Given the description of an element on the screen output the (x, y) to click on. 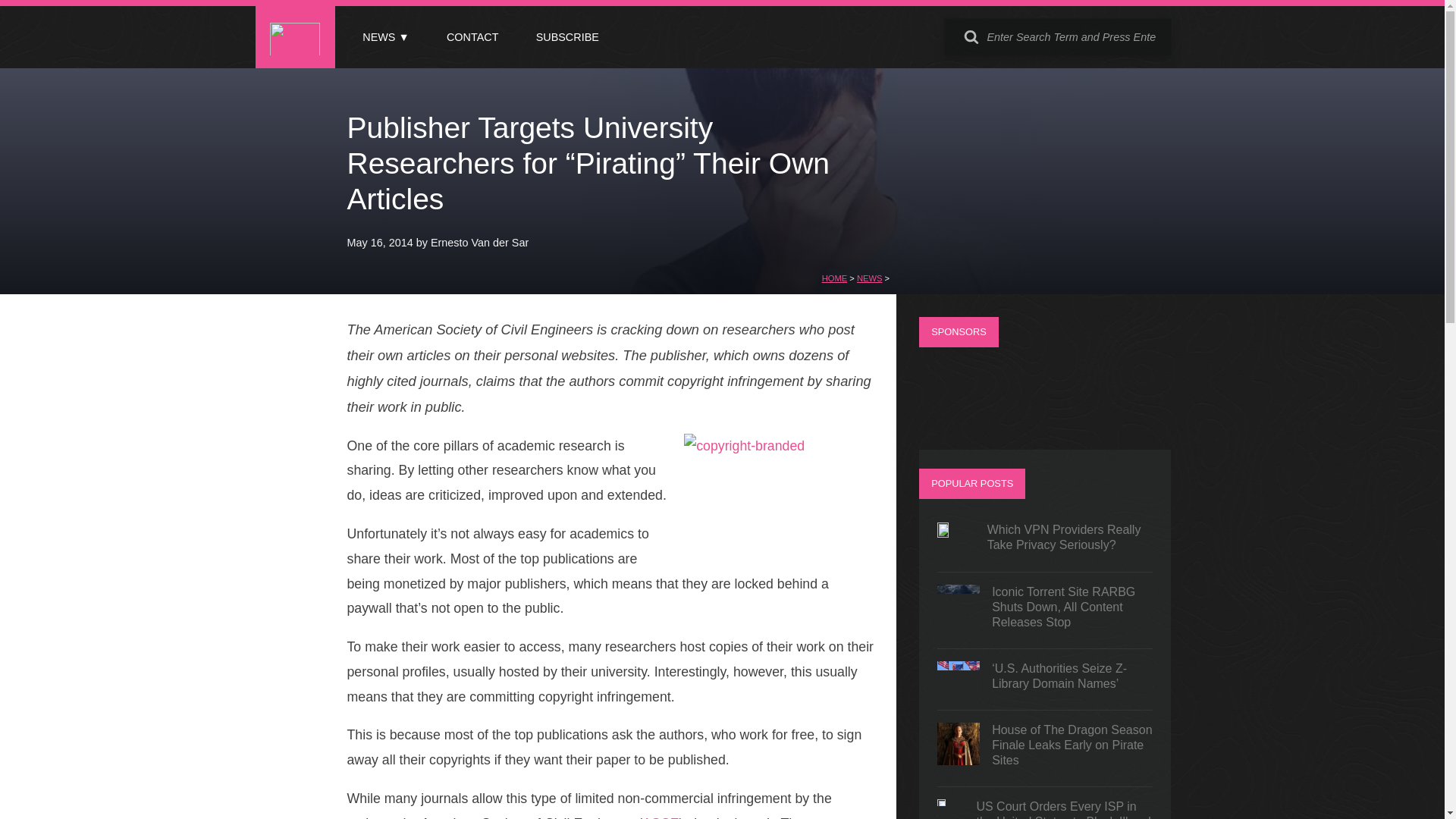
Which VPN Providers Really Take Privacy Seriously? (1045, 541)
Go to the News category archives. (869, 277)
Ernesto Van der Sar (479, 242)
CONTACT (471, 37)
Go to TorrentFreak. (834, 277)
HOME (834, 277)
ASCE (660, 817)
